Given the description of an element on the screen output the (x, y) to click on. 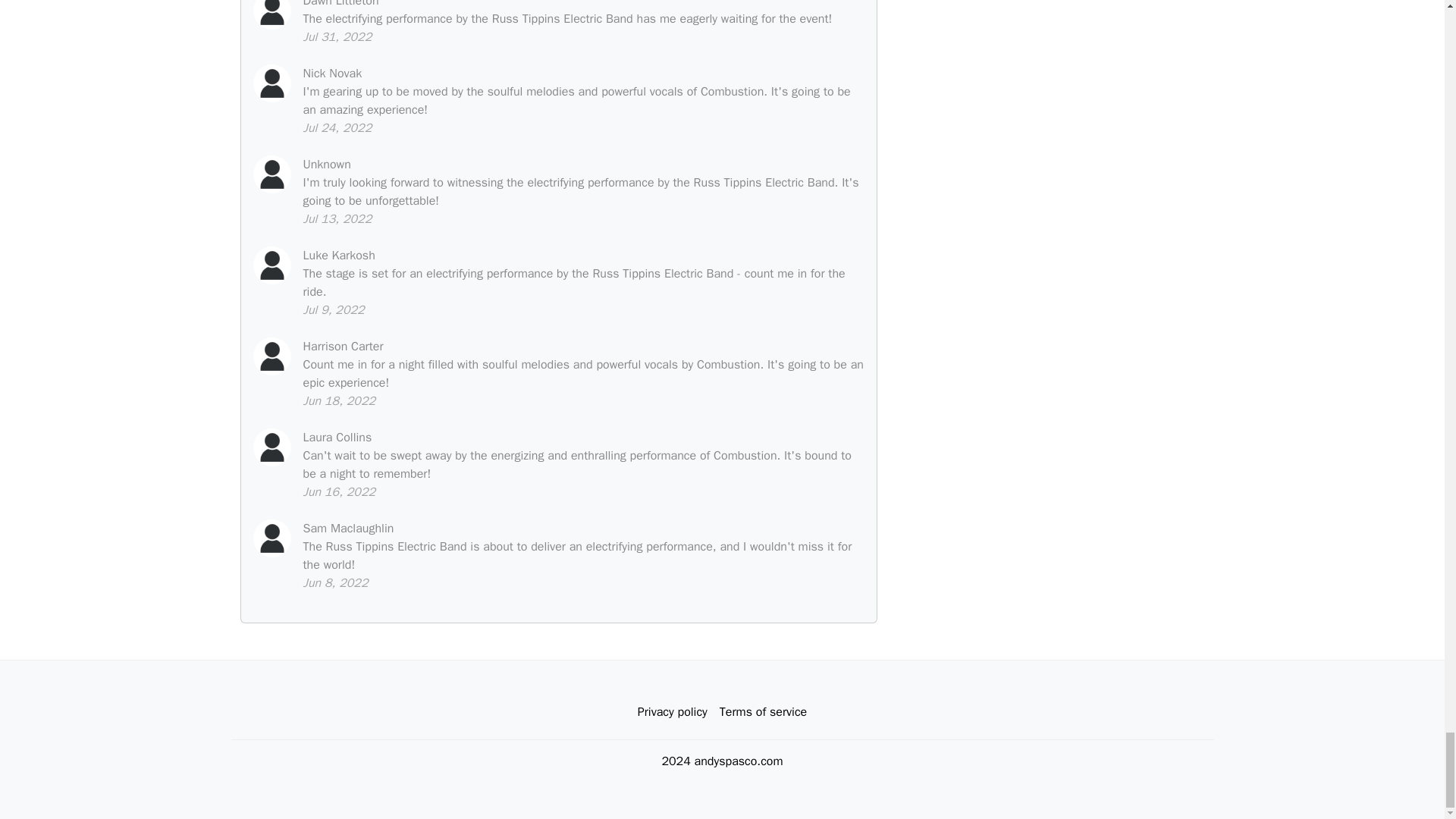
Privacy policy (672, 711)
Terms of service (762, 711)
